Given the description of an element on the screen output the (x, y) to click on. 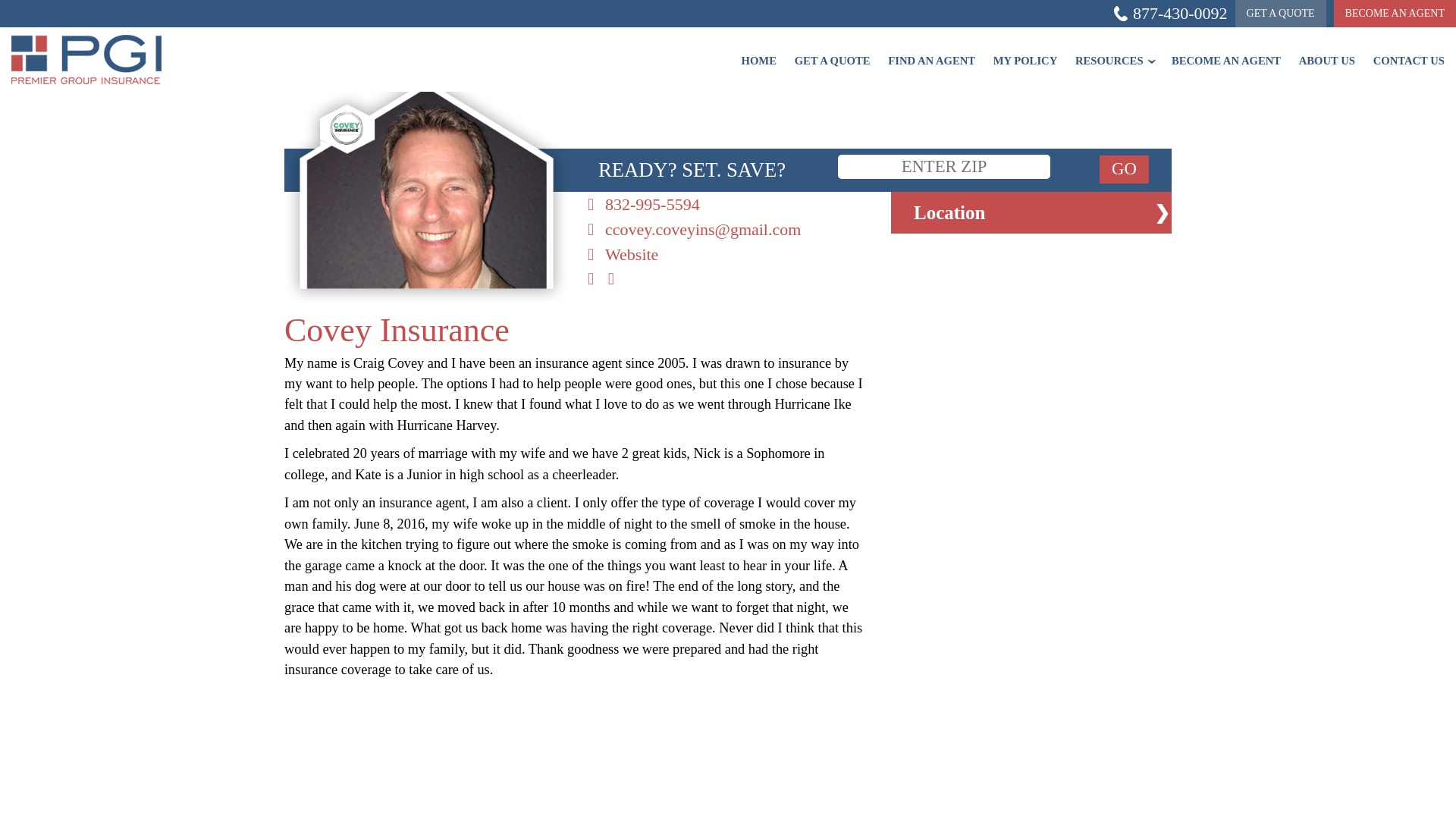
GET A QUOTE (1280, 13)
CONTACT US (1401, 50)
ABOUT US (1319, 50)
GO (1123, 169)
Website (727, 253)
HOME (751, 50)
Home Page (121, 59)
877-430-0092 (1170, 13)
832-995-5594 (727, 204)
FIND AN AGENT (923, 50)
